Given the description of an element on the screen output the (x, y) to click on. 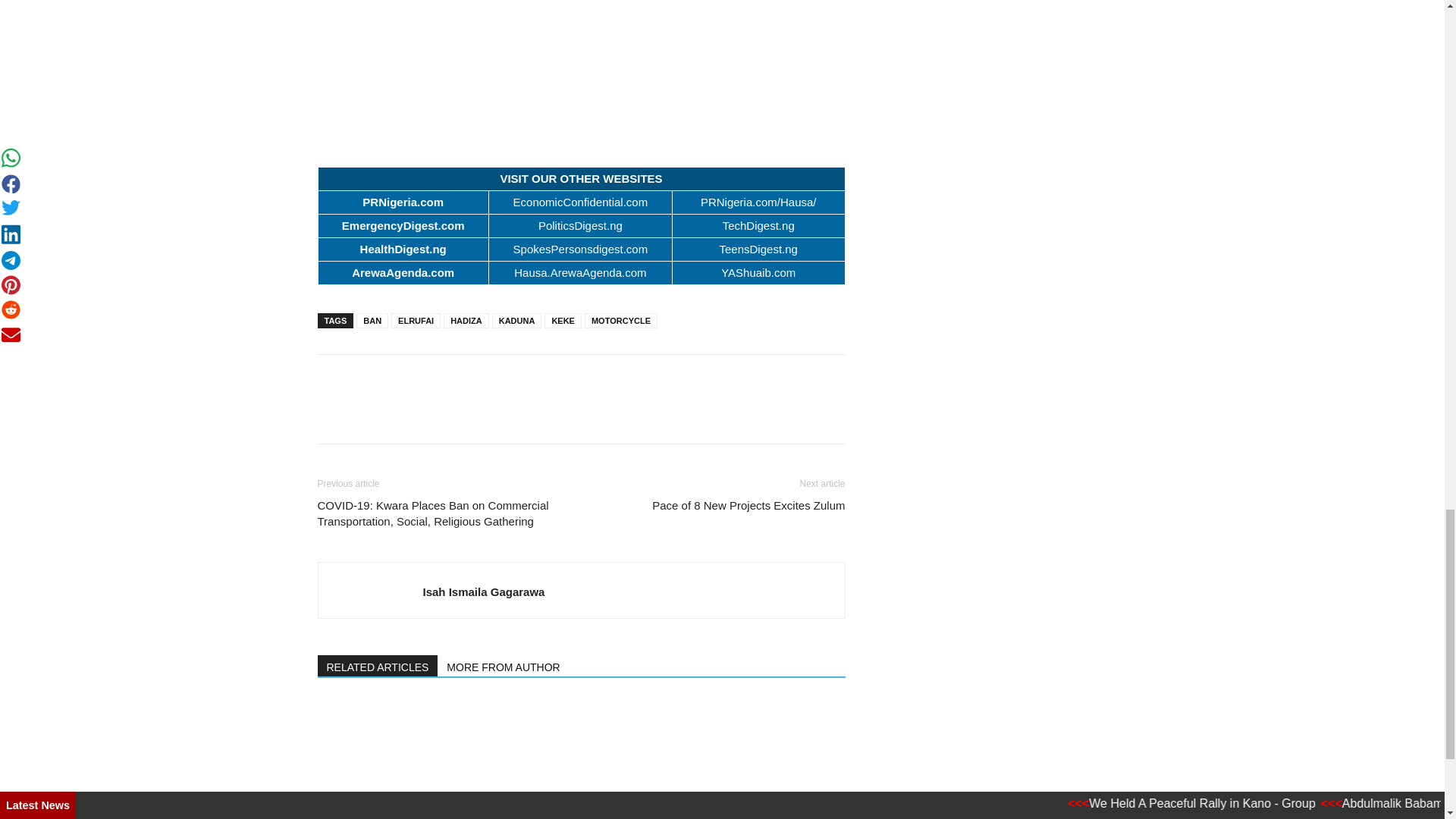
Arewa Award (580, 65)
bottomFacebookLike (430, 378)
